Given the description of an element on the screen output the (x, y) to click on. 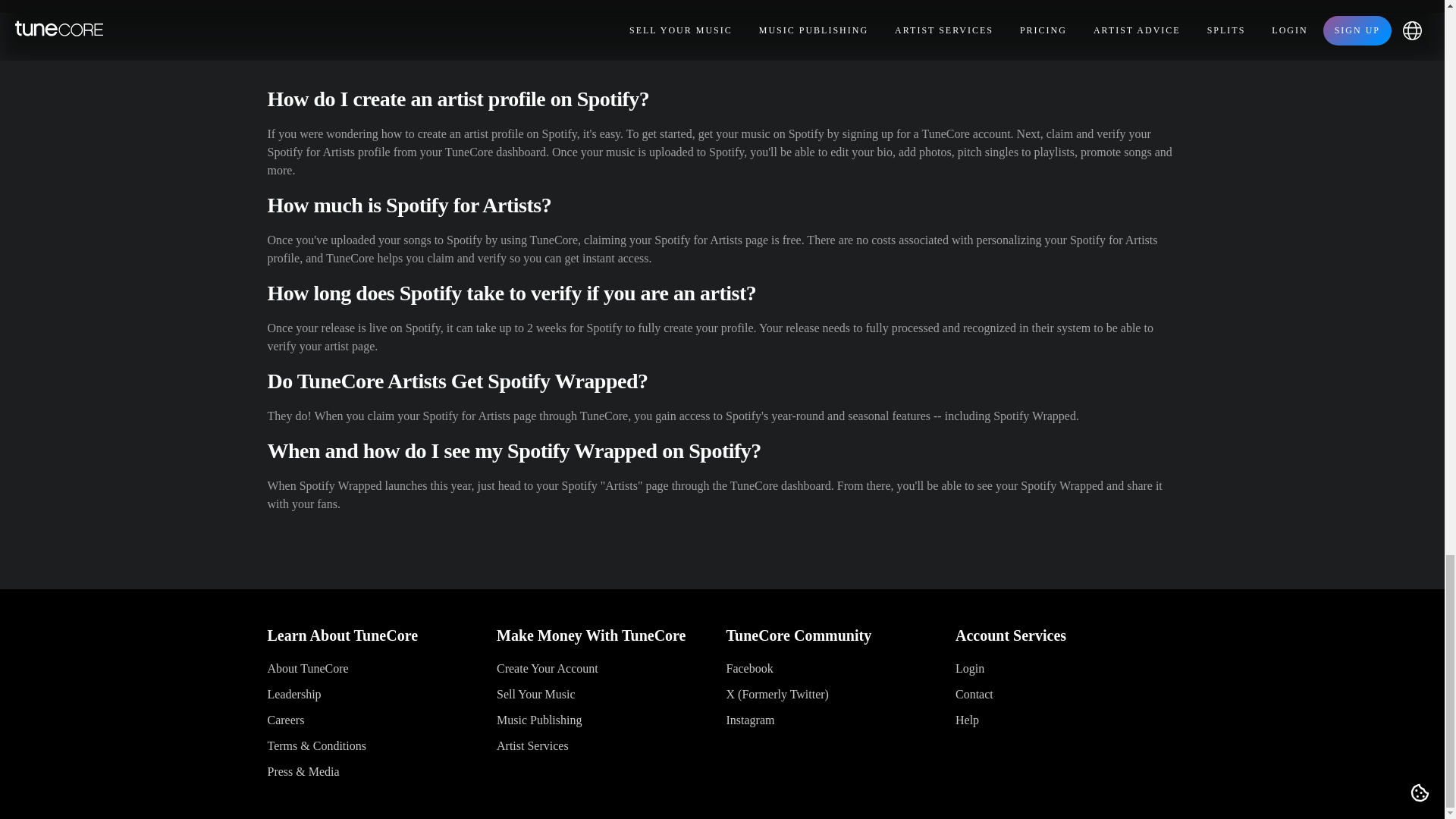
Help (966, 719)
Music Publishing (538, 719)
Contact (973, 694)
Instagram (750, 719)
Login (969, 667)
Create Your Account (547, 667)
Artist Services (532, 745)
Leadership (293, 694)
Facebook (749, 667)
About TuneCore (306, 667)
